Given the description of an element on the screen output the (x, y) to click on. 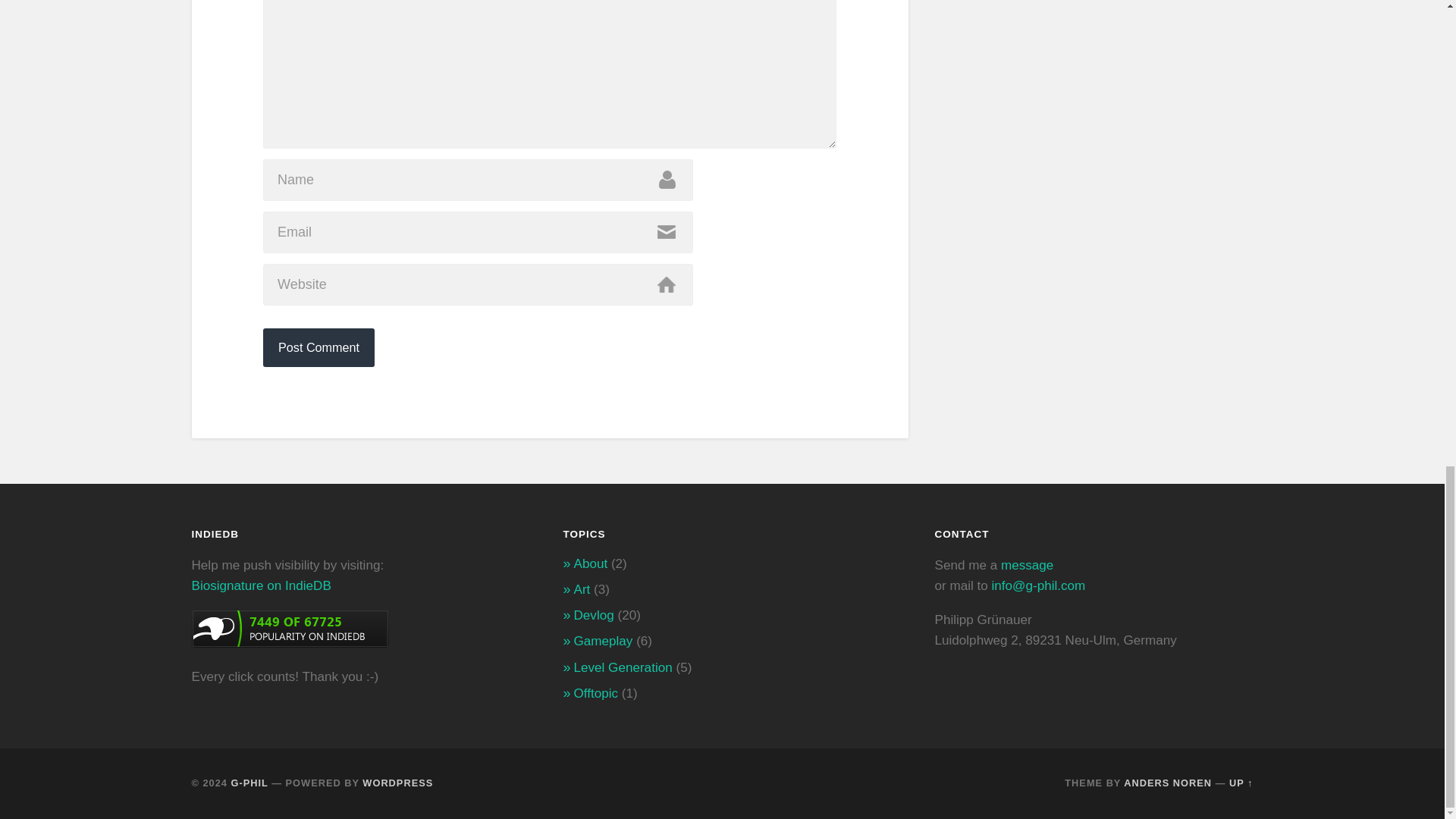
Offtopic (595, 693)
Gameplay (602, 640)
Post Comment (318, 347)
Devlog (592, 615)
Level Generation (622, 667)
G-Phil (249, 782)
About (590, 563)
To the top (1240, 782)
Art (581, 589)
Post Comment (318, 347)
Biosignature on IndieDB (260, 585)
G-PHIL (249, 782)
message (1026, 564)
View Biosignature - escape from ice moon on Indie DB (289, 643)
